Given the description of an element on the screen output the (x, y) to click on. 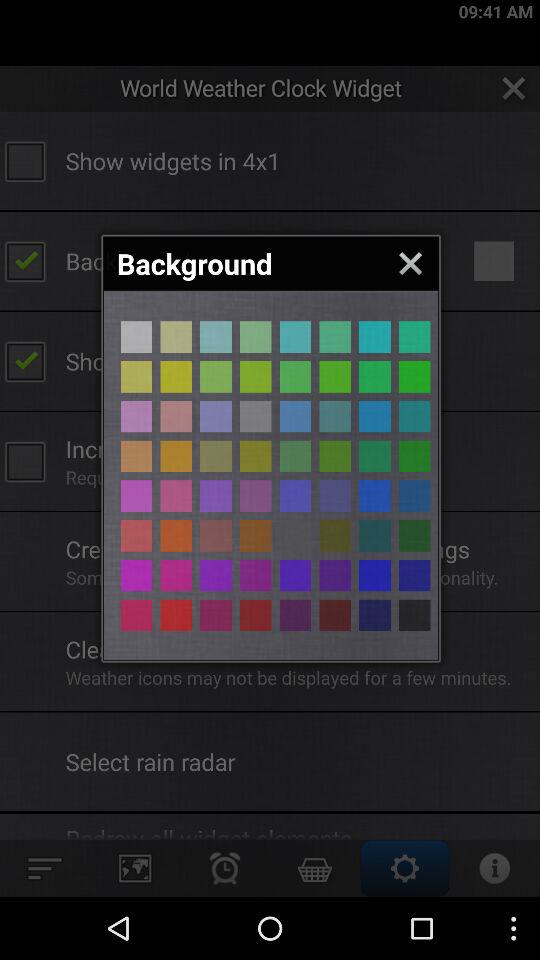
background colour selection (176, 535)
